Given the description of an element on the screen output the (x, y) to click on. 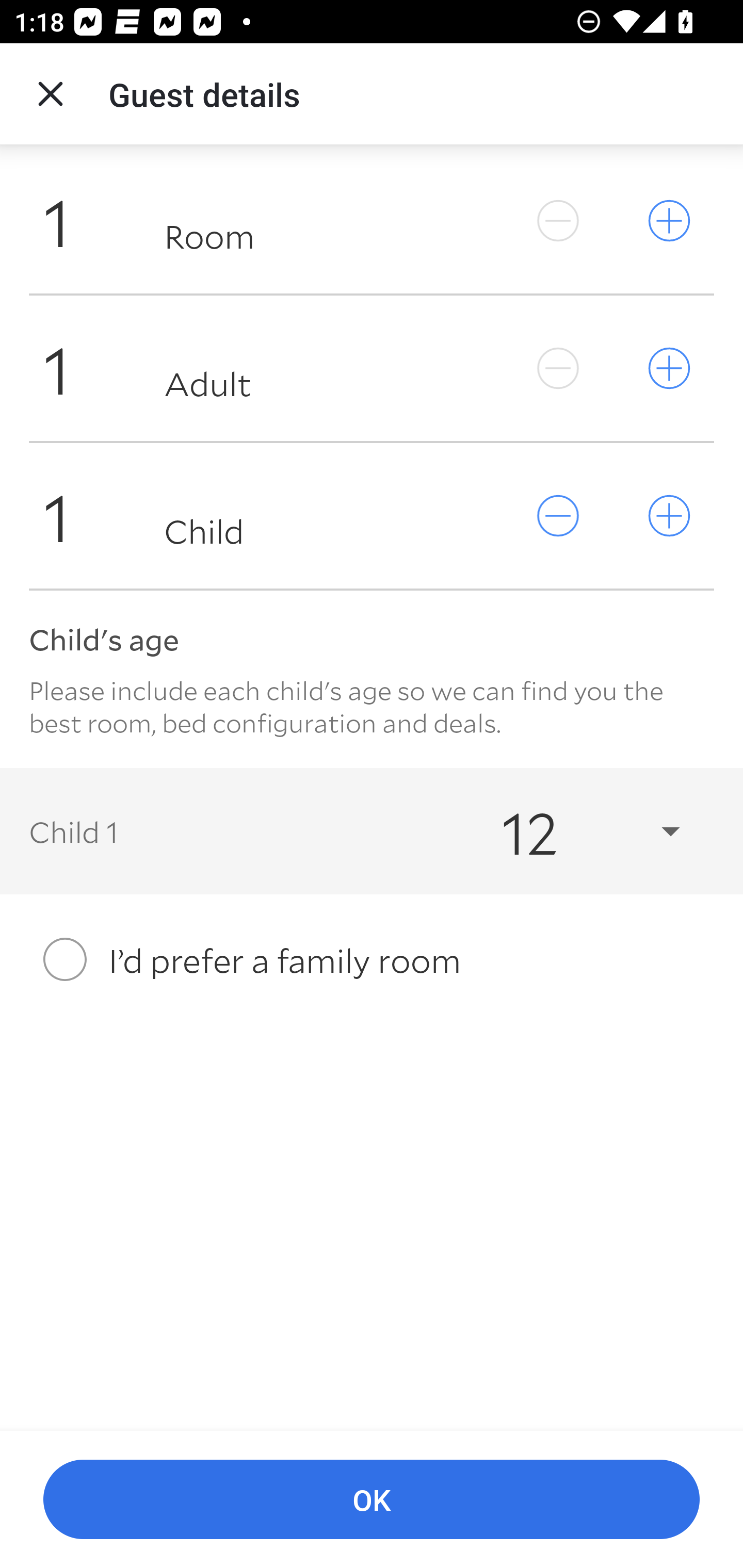
12 (573, 830)
I’d prefer a family room (371, 959)
OK (371, 1499)
